Given the description of an element on the screen output the (x, y) to click on. 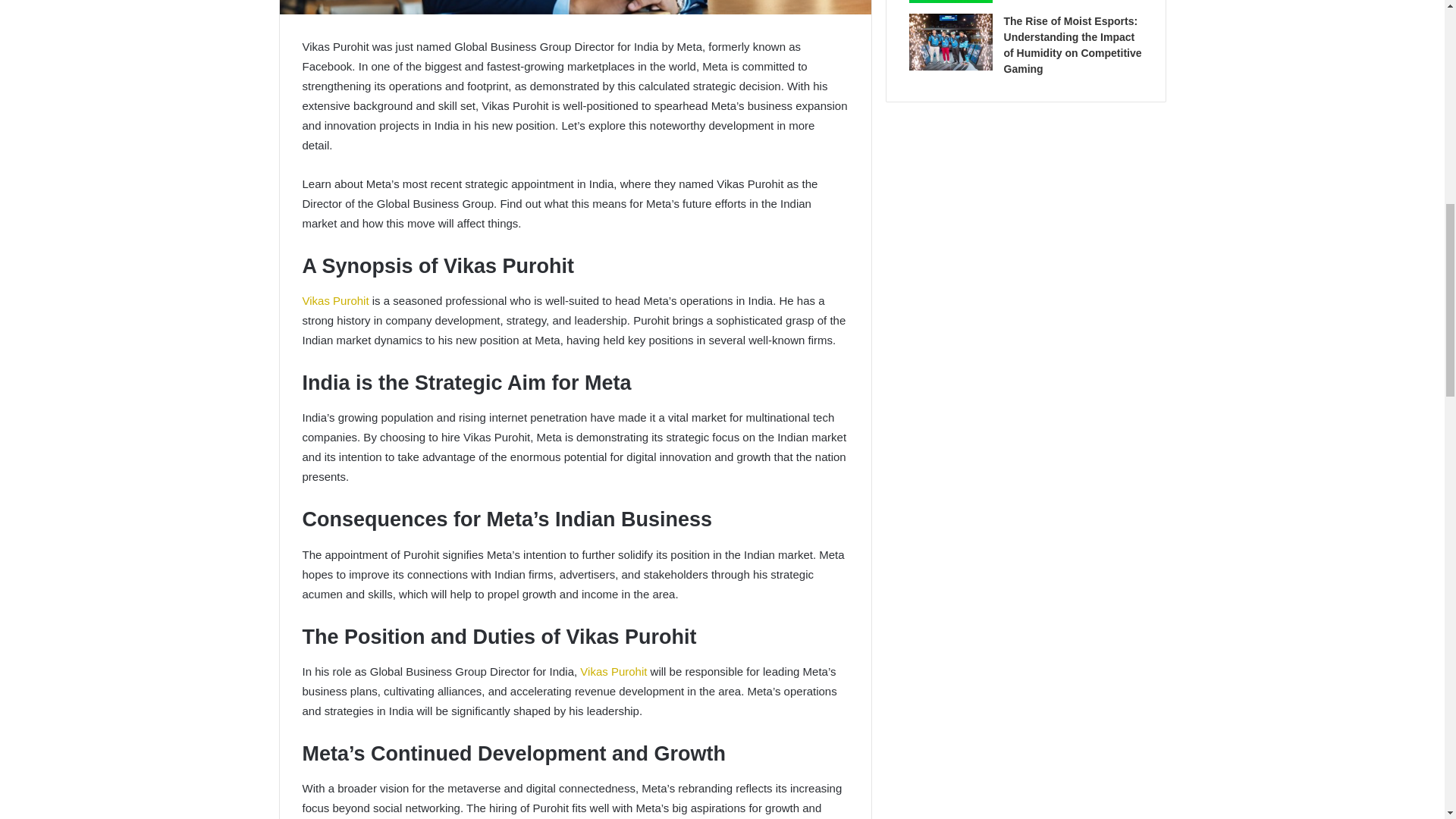
Vikas Purohit (334, 300)
Vikas Purohit (611, 671)
